Given the description of an element on the screen output the (x, y) to click on. 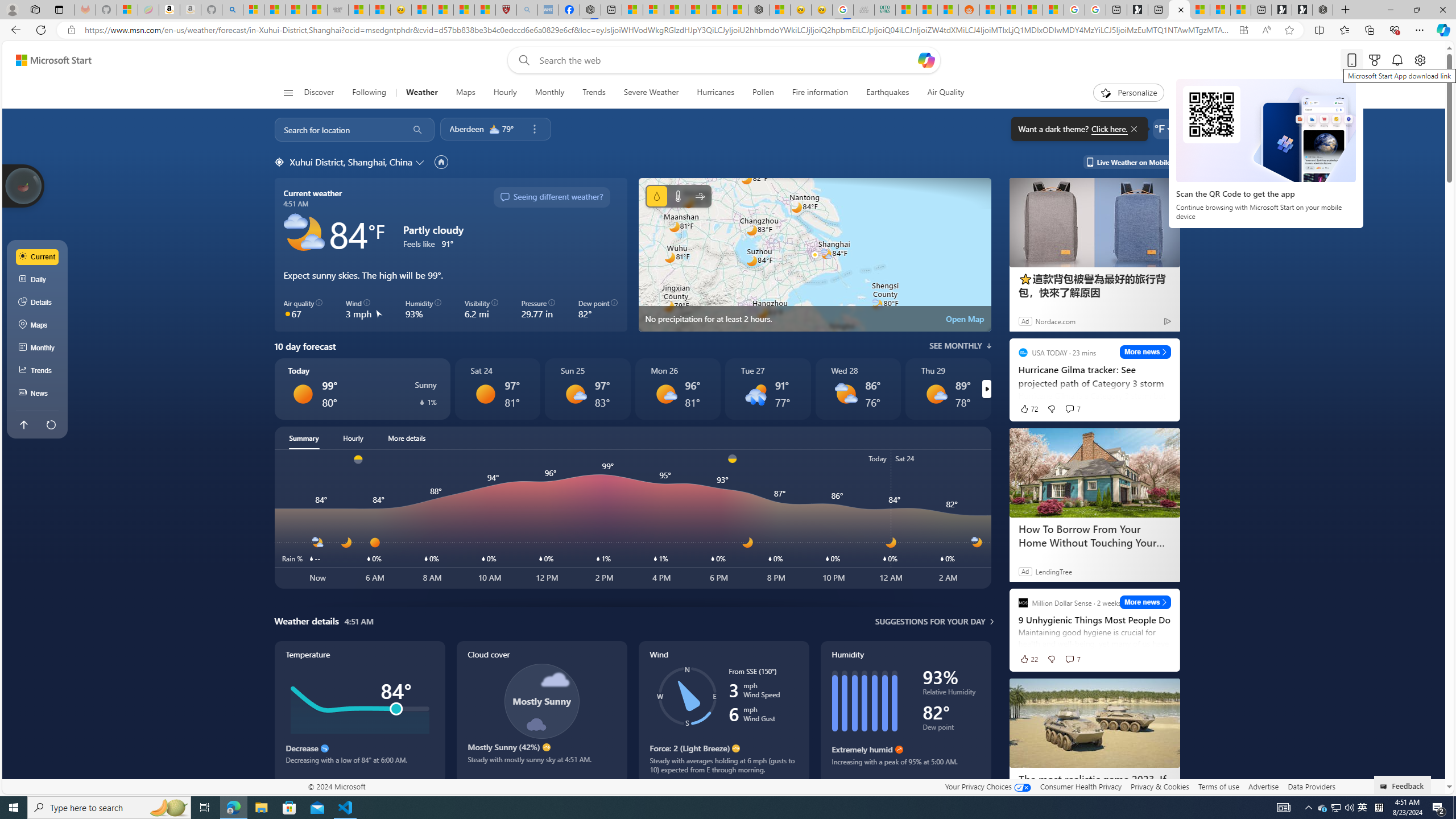
Severe Weather (650, 92)
Increasing with a peak of 95% at 5:00 AM. (905, 765)
Web search (520, 60)
Steady with mostly sunny sky at 4:51 AM. (541, 764)
Microsoft rewards (1374, 60)
Your Privacy Choices (987, 785)
More details (406, 437)
Mostly sunny (935, 393)
Hourly (504, 92)
Maps (37, 325)
Details (37, 302)
